Given the description of an element on the screen output the (x, y) to click on. 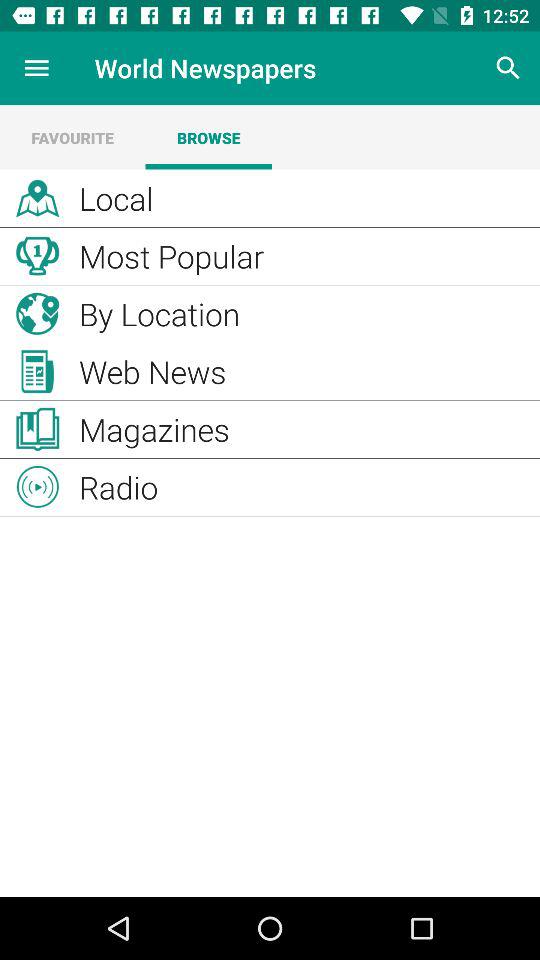
press icon at the top right corner (508, 67)
